Given the description of an element on the screen output the (x, y) to click on. 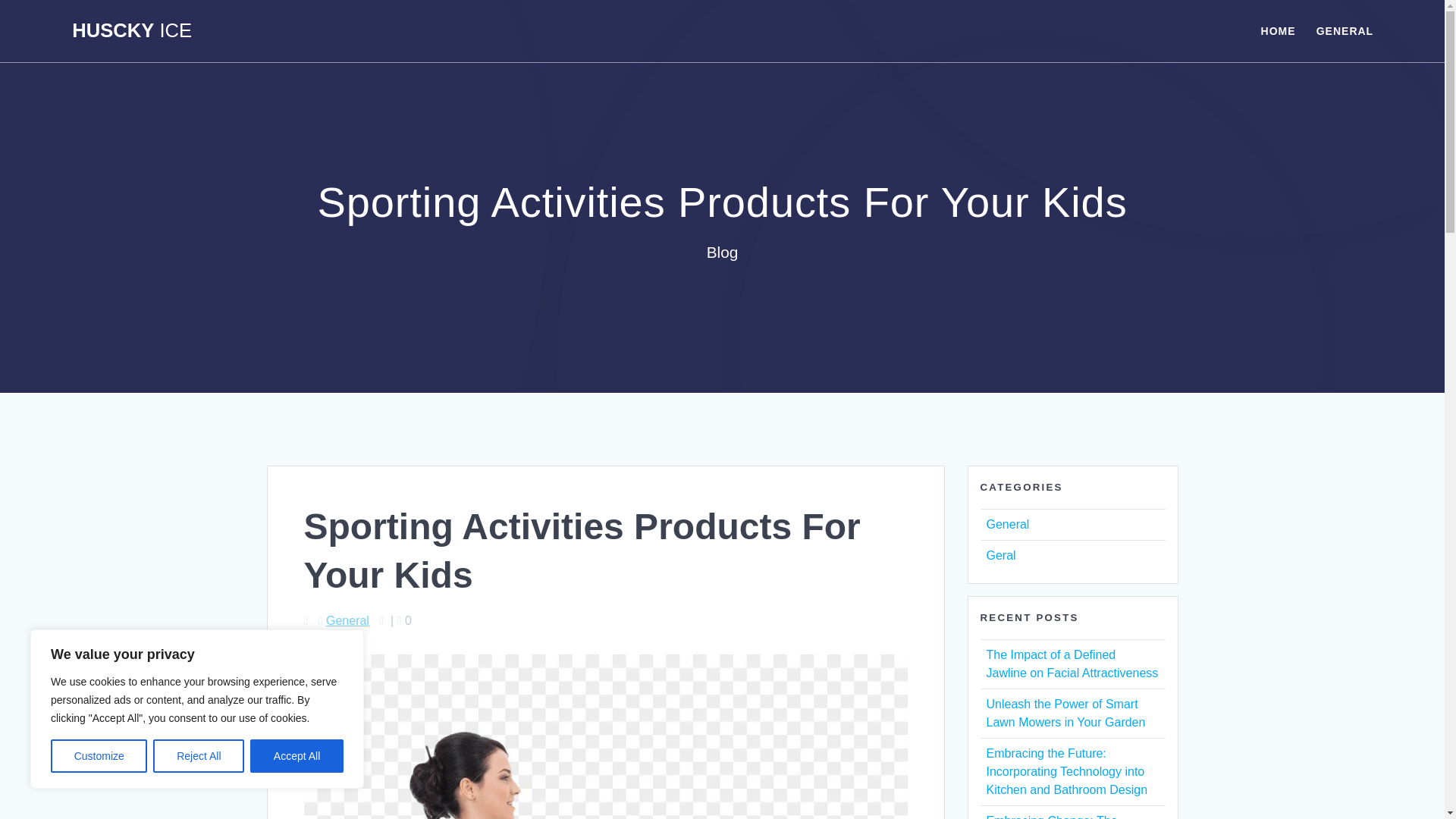
Accept All (296, 756)
Customize (98, 756)
Geral (999, 554)
The Impact of a Defined Jawline on Facial Attractiveness (1071, 663)
General (347, 620)
HOME (1277, 30)
HUSCKY ICE (131, 30)
Reject All (198, 756)
Unleash the Power of Smart Lawn Mowers in Your Garden (1064, 712)
General (1007, 523)
GENERAL (1344, 30)
